Given the description of an element on the screen output the (x, y) to click on. 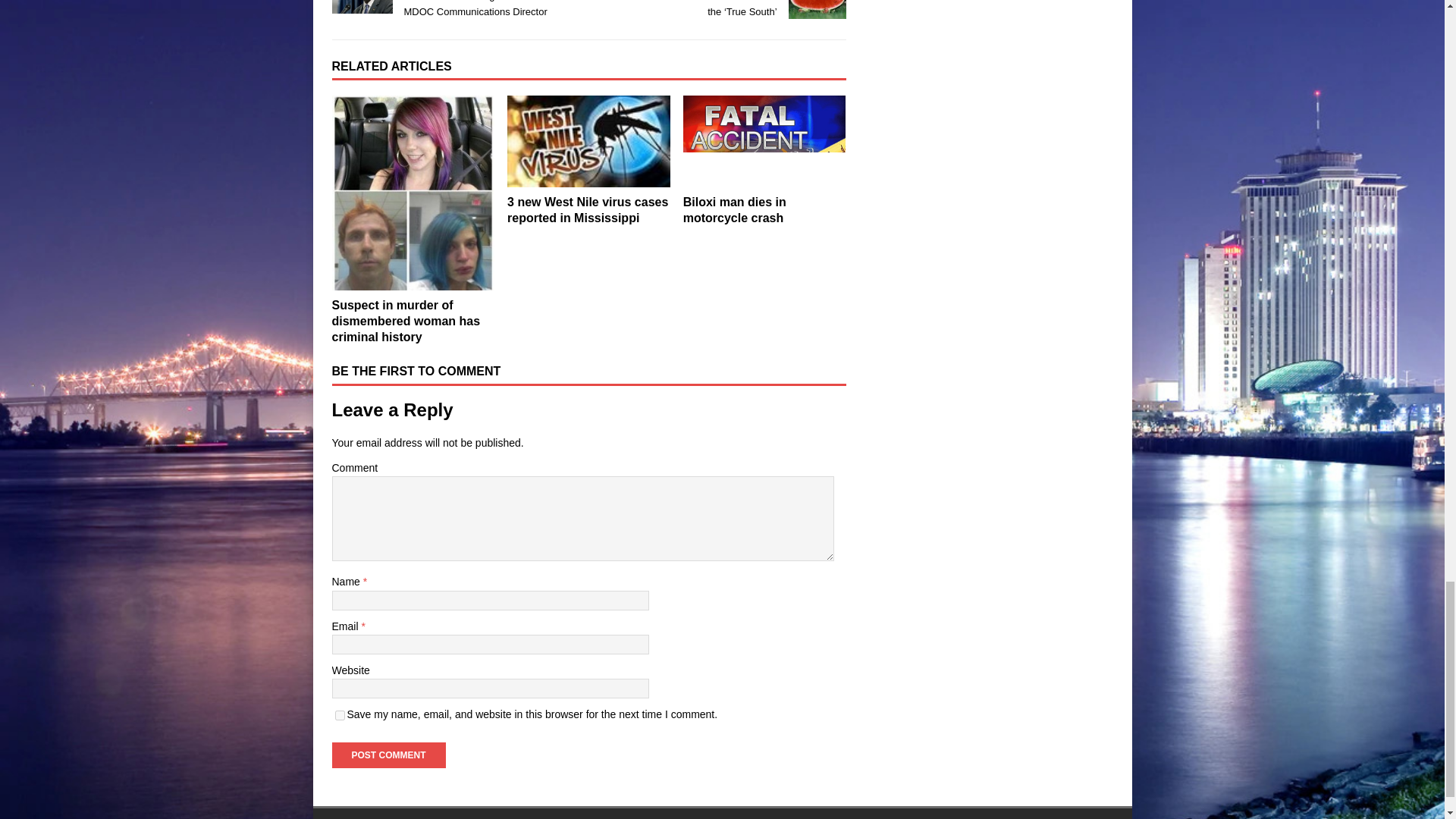
yes (339, 715)
Post Comment (388, 755)
